Given the description of an element on the screen output the (x, y) to click on. 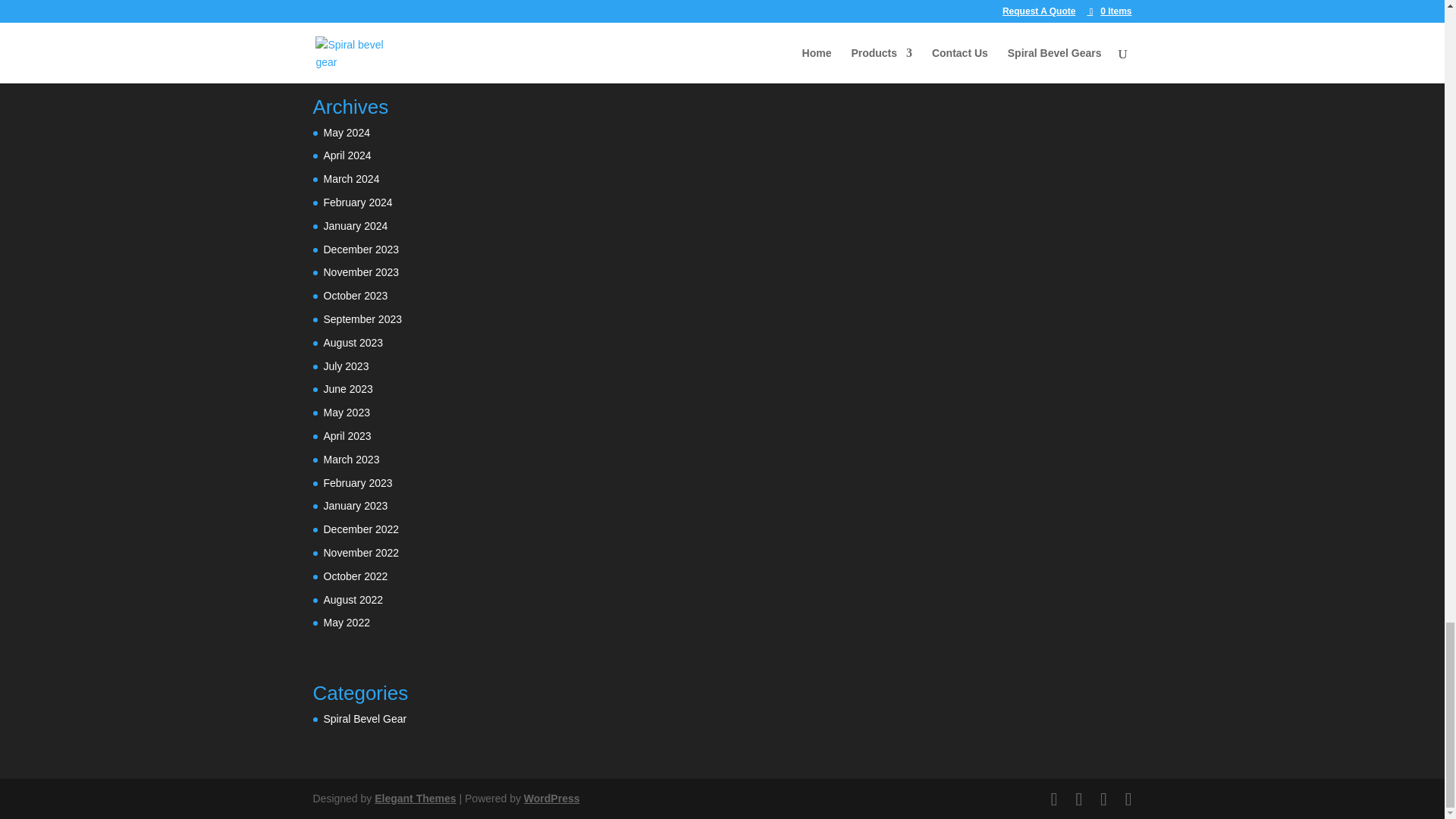
Premium WordPress Themes (414, 798)
